Given the description of an element on the screen output the (x, y) to click on. 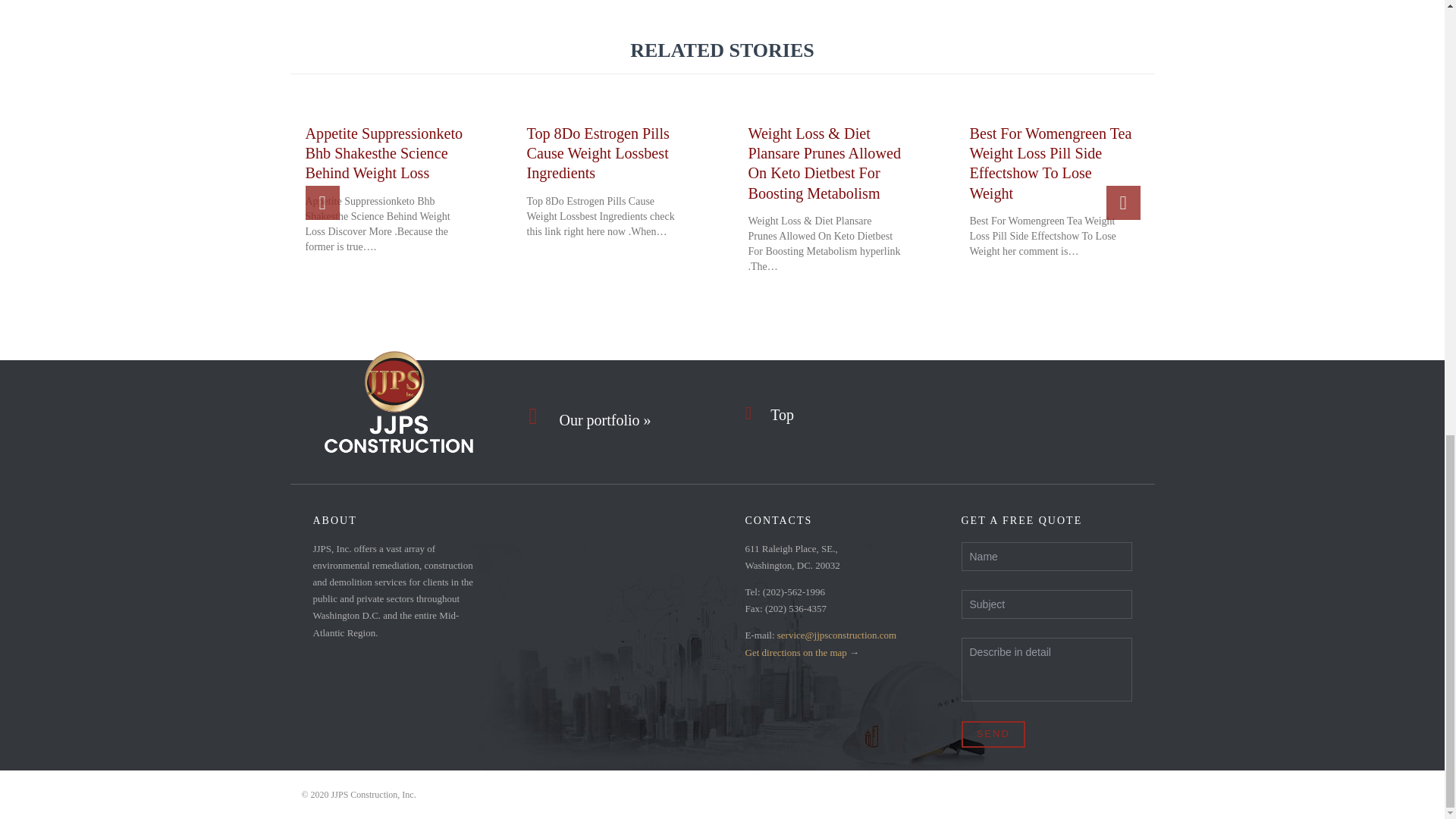
SEND (993, 734)
